Given the description of an element on the screen output the (x, y) to click on. 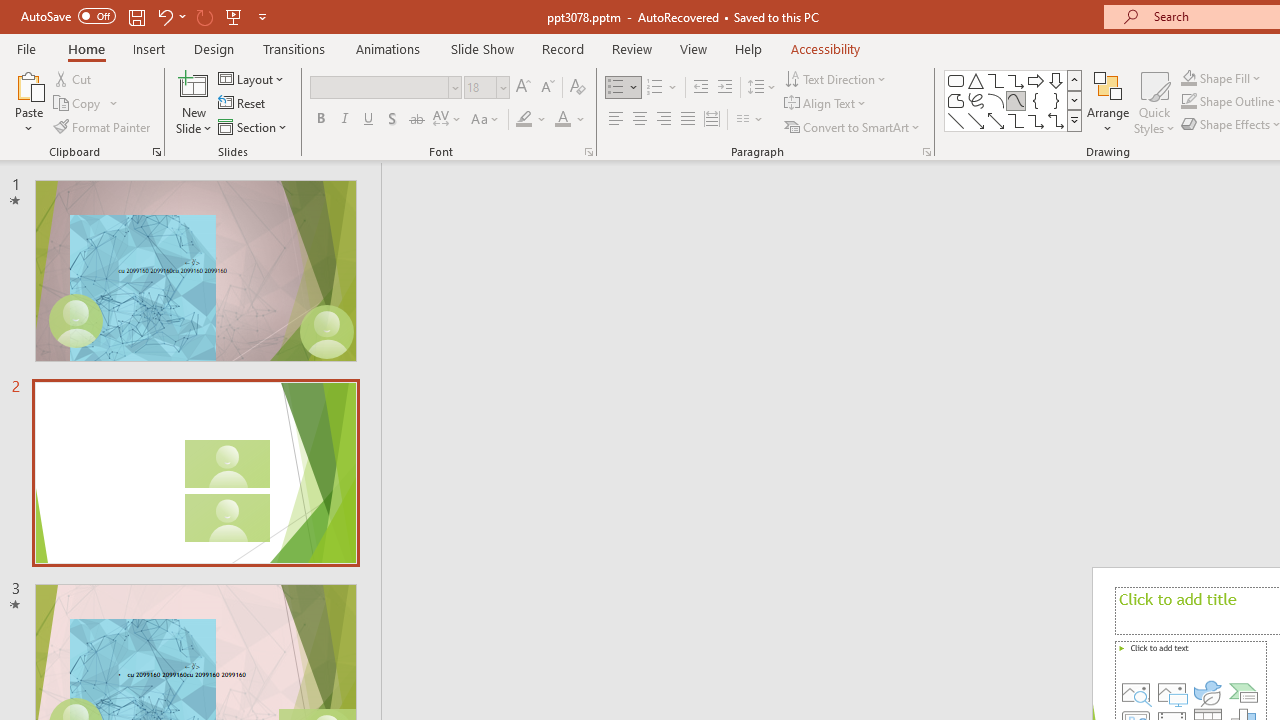
Stock Images (1136, 692)
Shape Fill Dark Green, Accent 2 (1188, 78)
